Given the description of an element on the screen output the (x, y) to click on. 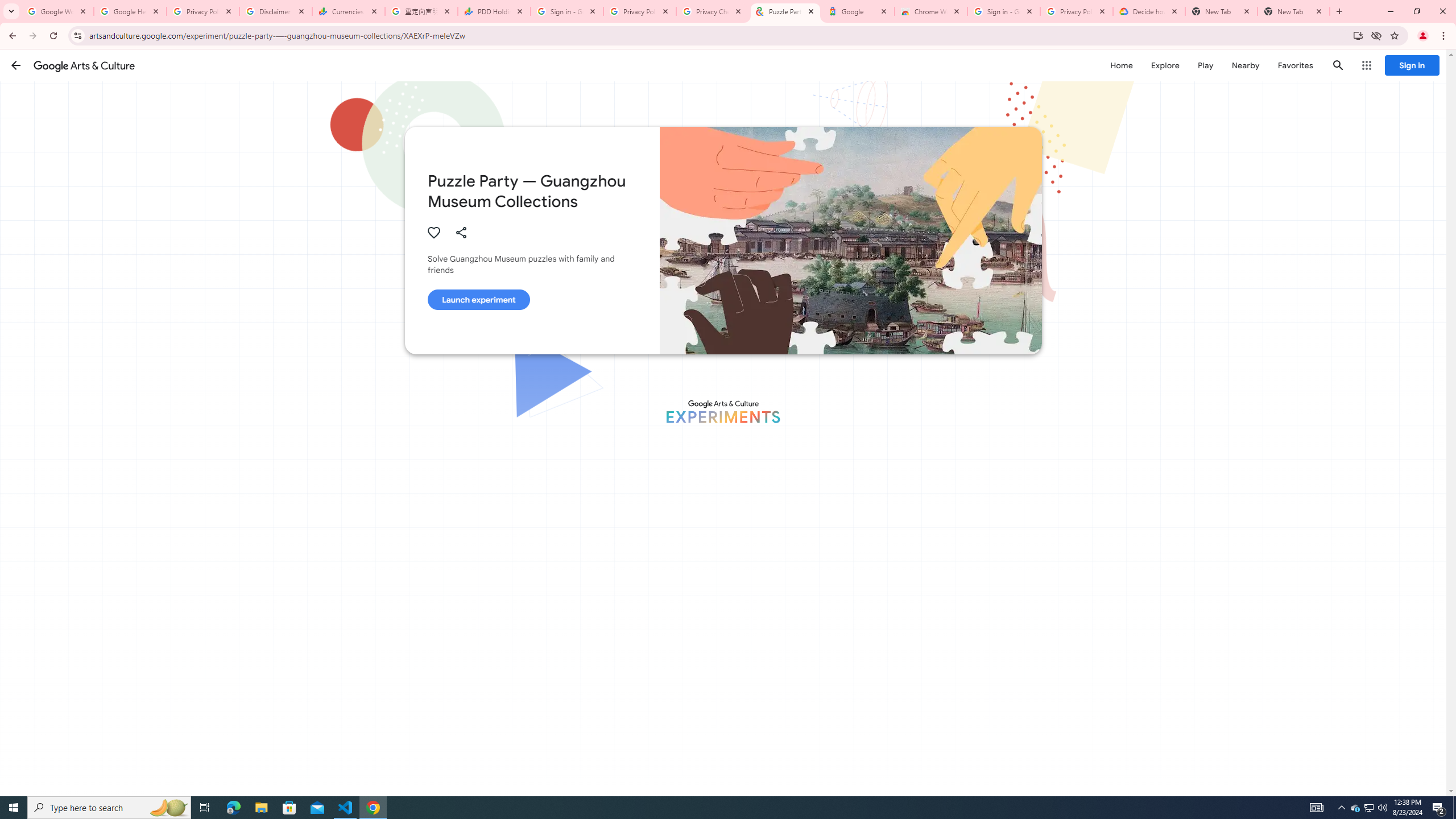
Privacy Checkup (712, 11)
Sign in - Google Accounts (566, 11)
Google (857, 11)
Nearby (1244, 65)
Play (1205, 65)
Easy (653, 778)
Medium (716, 778)
Google Arts & Culture (84, 65)
New Tab (1293, 11)
